Given the description of an element on the screen output the (x, y) to click on. 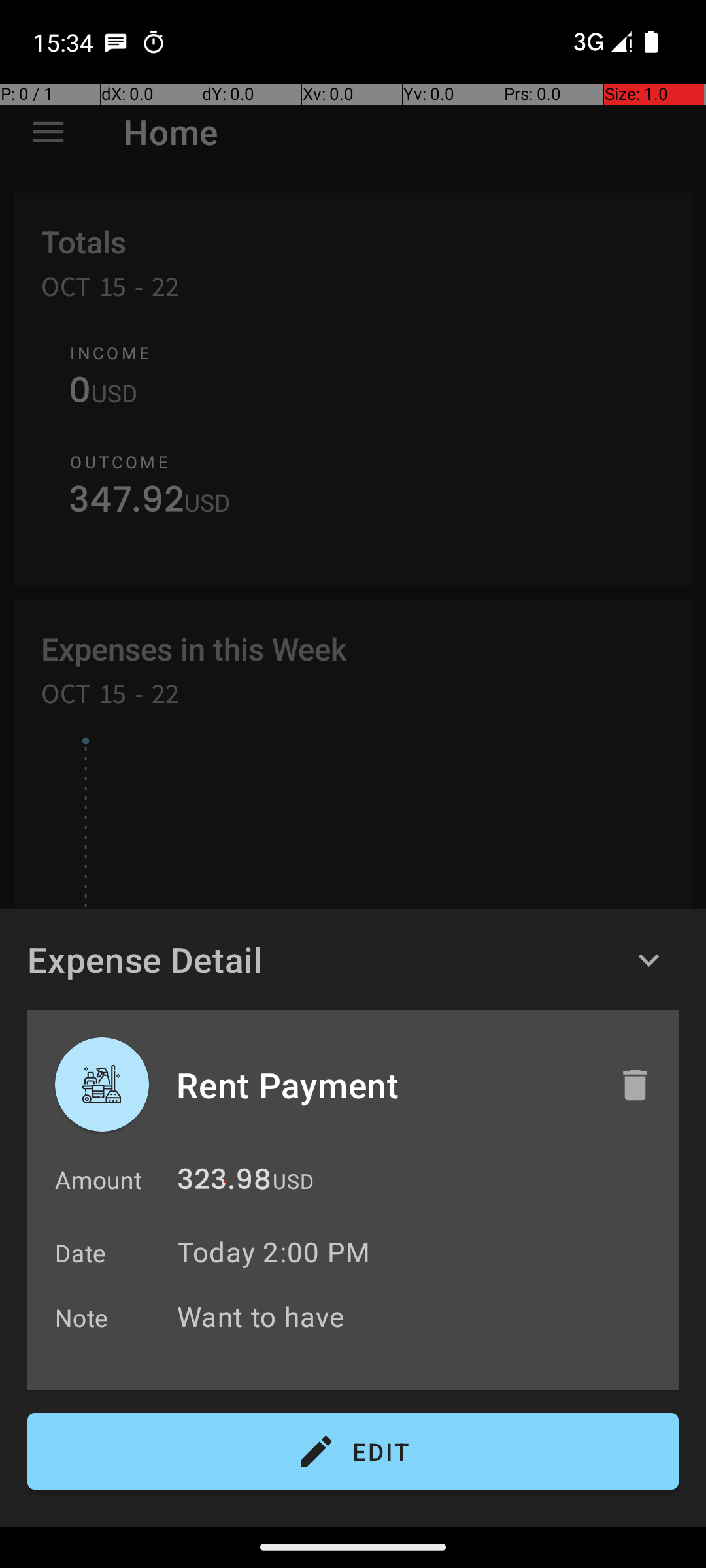
Rent Payment Element type: android.widget.TextView (383, 1084)
323.98 Element type: android.widget.TextView (223, 1182)
SMS Messenger notification: Sophie Gonzalez Element type: android.widget.ImageView (115, 41)
